Given the description of an element on the screen output the (x, y) to click on. 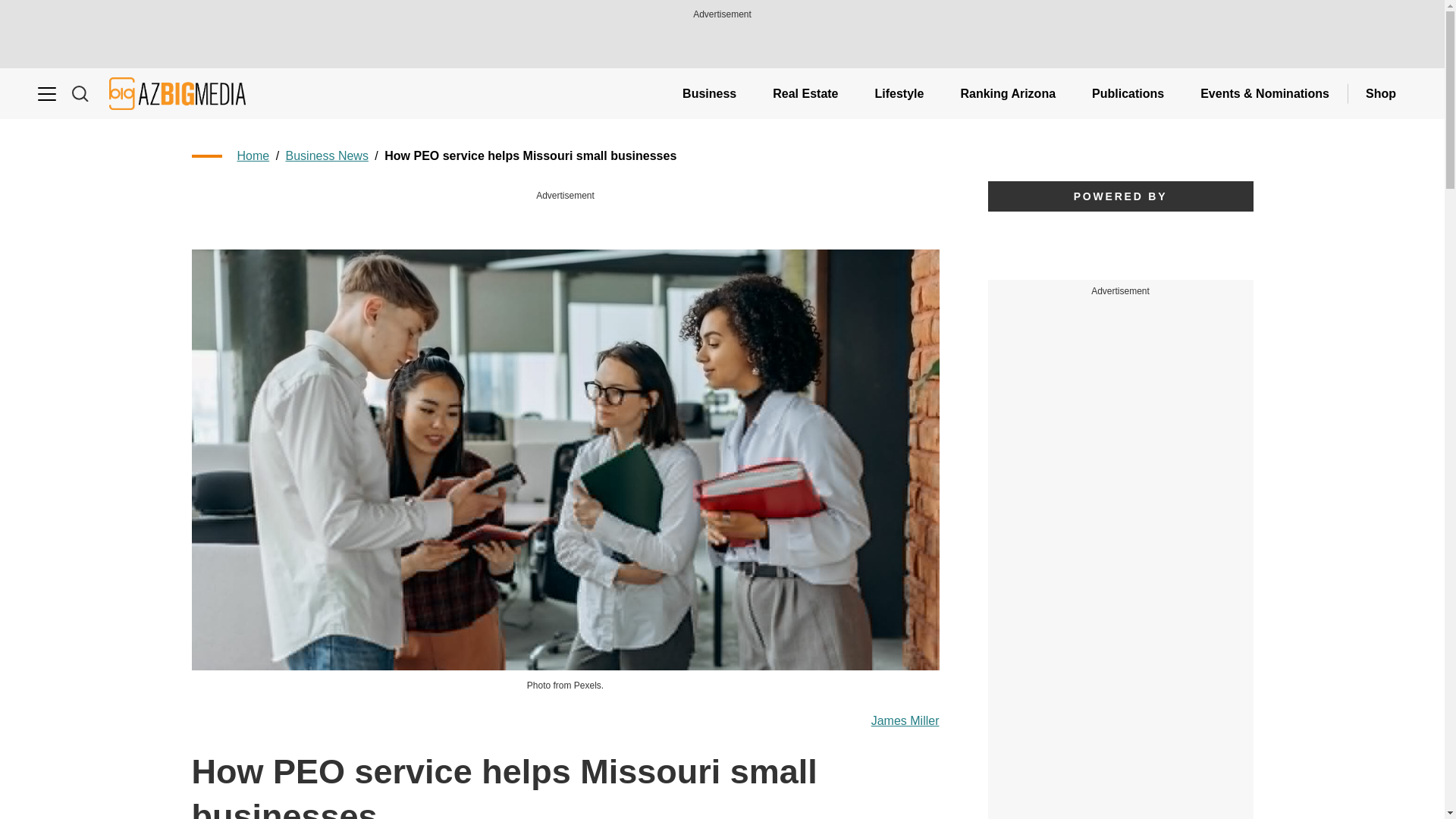
Posts by James Miller (904, 721)
Business (708, 92)
AZ Big Media Logo (177, 92)
